Given the description of an element on the screen output the (x, y) to click on. 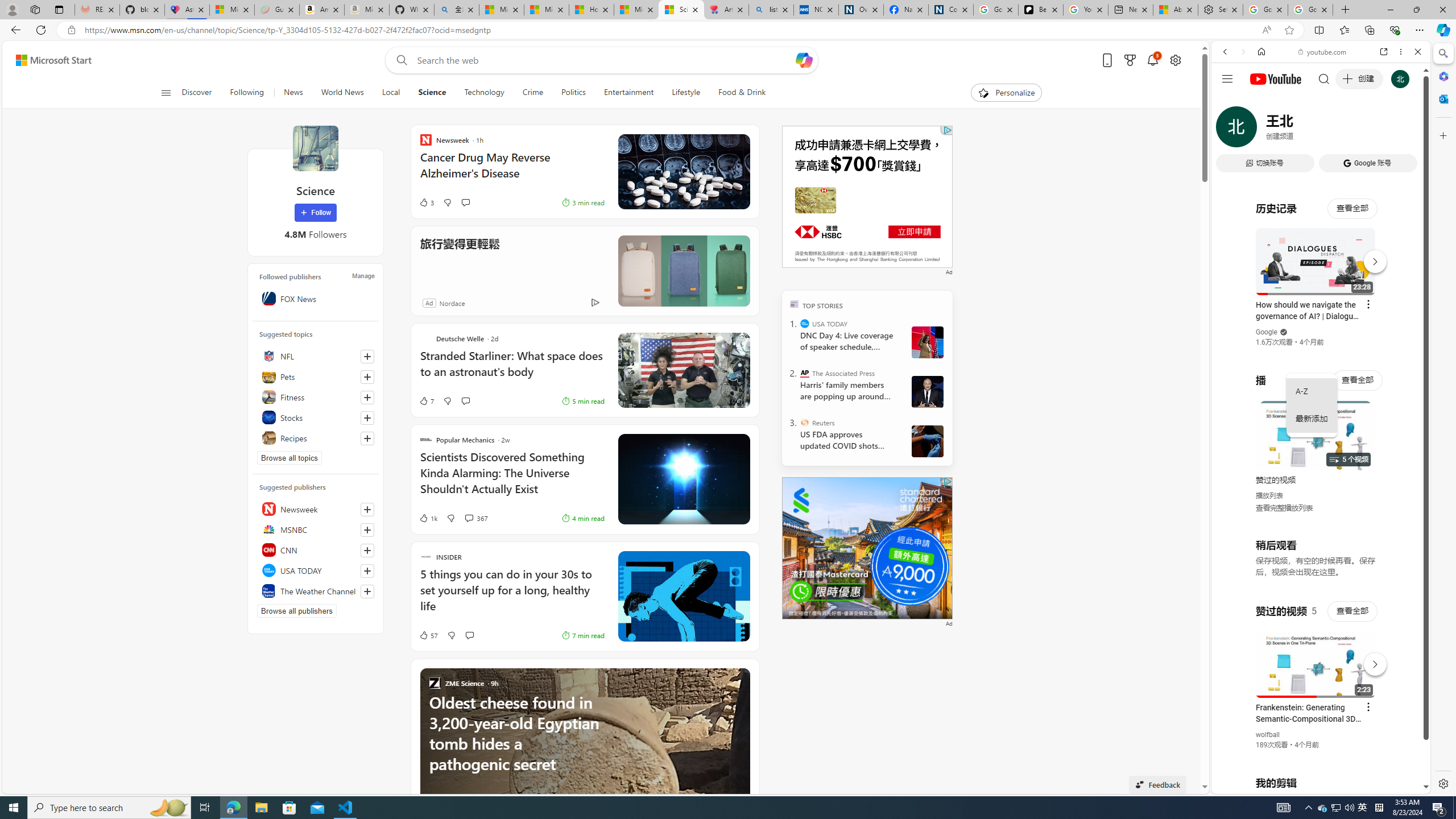
NCL Adult Asthma Inhaler Choice Guideline (816, 9)
Be Smart | creating Science videos | Patreon (1040, 9)
Follow (315, 212)
USA TODAY (315, 570)
Stranded Starliner: What space does to an astronaut's body (511, 369)
